Given the description of an element on the screen output the (x, y) to click on. 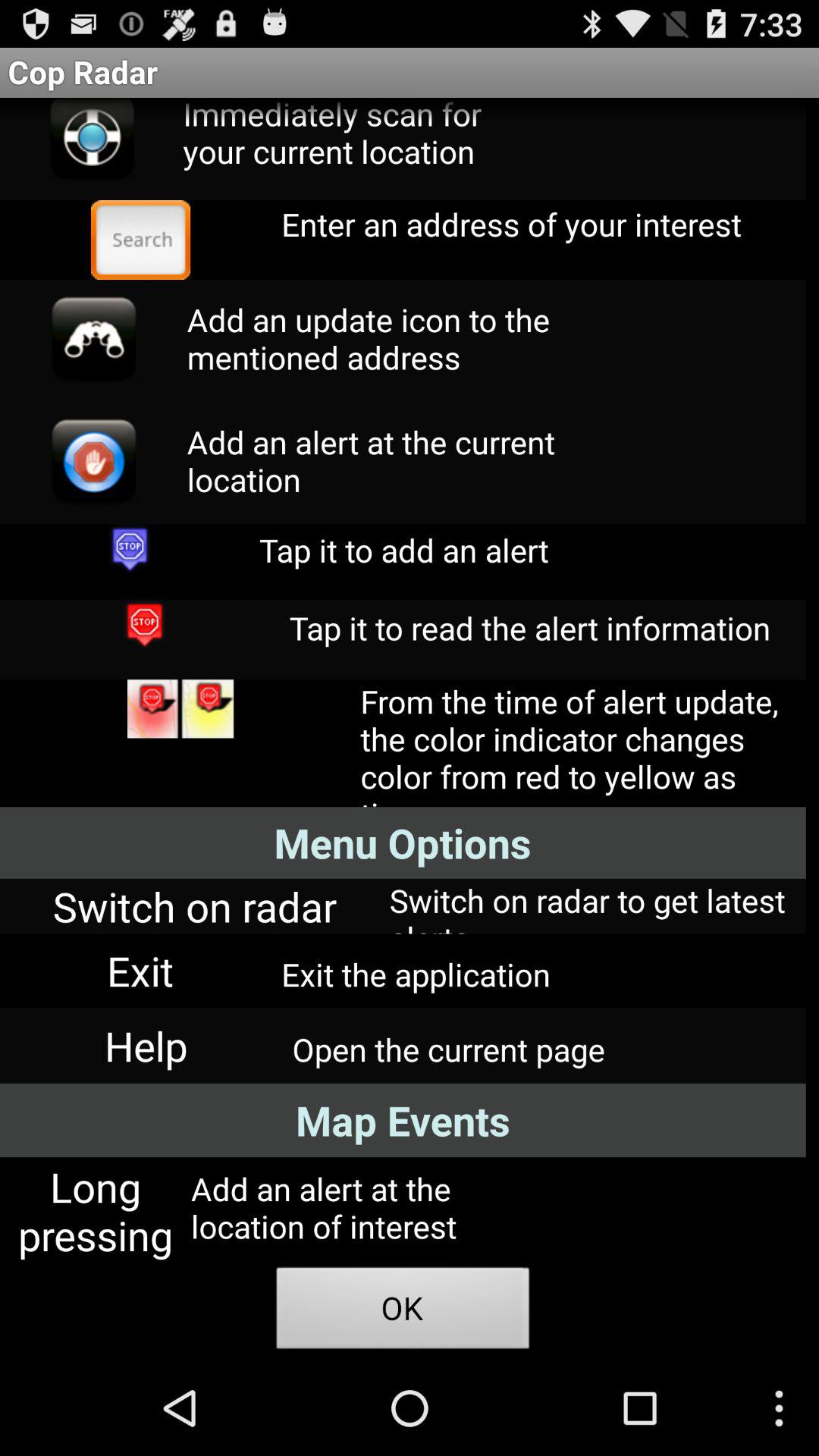
press item to the right of the long pressing app (403, 1312)
